Given the description of an element on the screen output the (x, y) to click on. 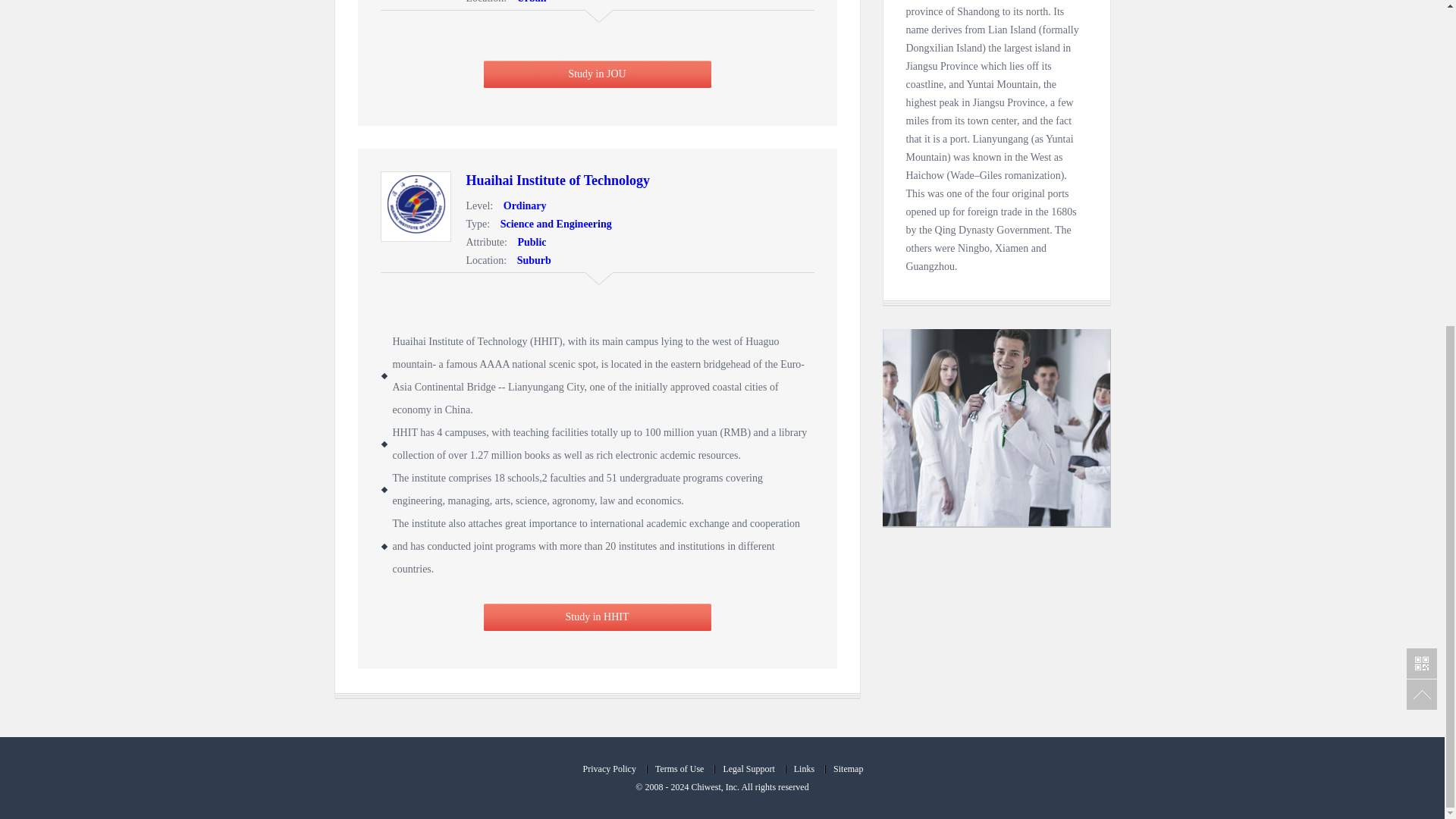
Science and Engineering (552, 224)
Huaihai Institute of Technology (557, 180)
Terms of Use (678, 768)
Legal Support (747, 768)
Suburb (530, 260)
Urban (528, 2)
Study in JOU (597, 73)
Study in Huaihai Institute of Technology (557, 180)
Ordinary (521, 205)
Public (527, 242)
Links (803, 768)
Study in HHIT (597, 616)
Privacy Policy (608, 768)
Sitemap (847, 768)
